Given the description of an element on the screen output the (x, y) to click on. 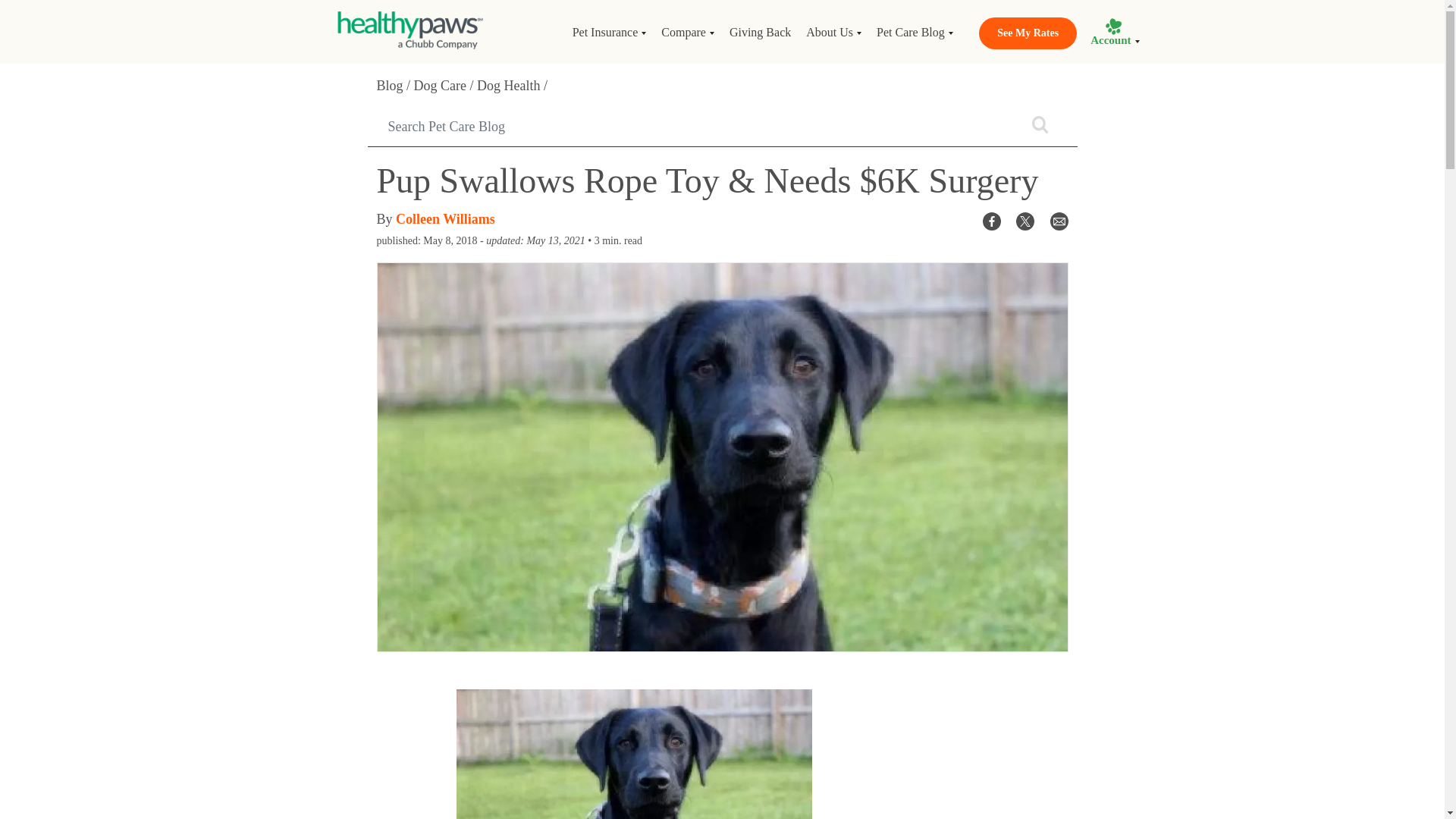
Compare (687, 32)
About Us (833, 32)
Share Post over Email (1058, 219)
Share Post on Twitter (1024, 219)
Giving Back (759, 32)
Pet Insurance (608, 32)
